Given the description of an element on the screen output the (x, y) to click on. 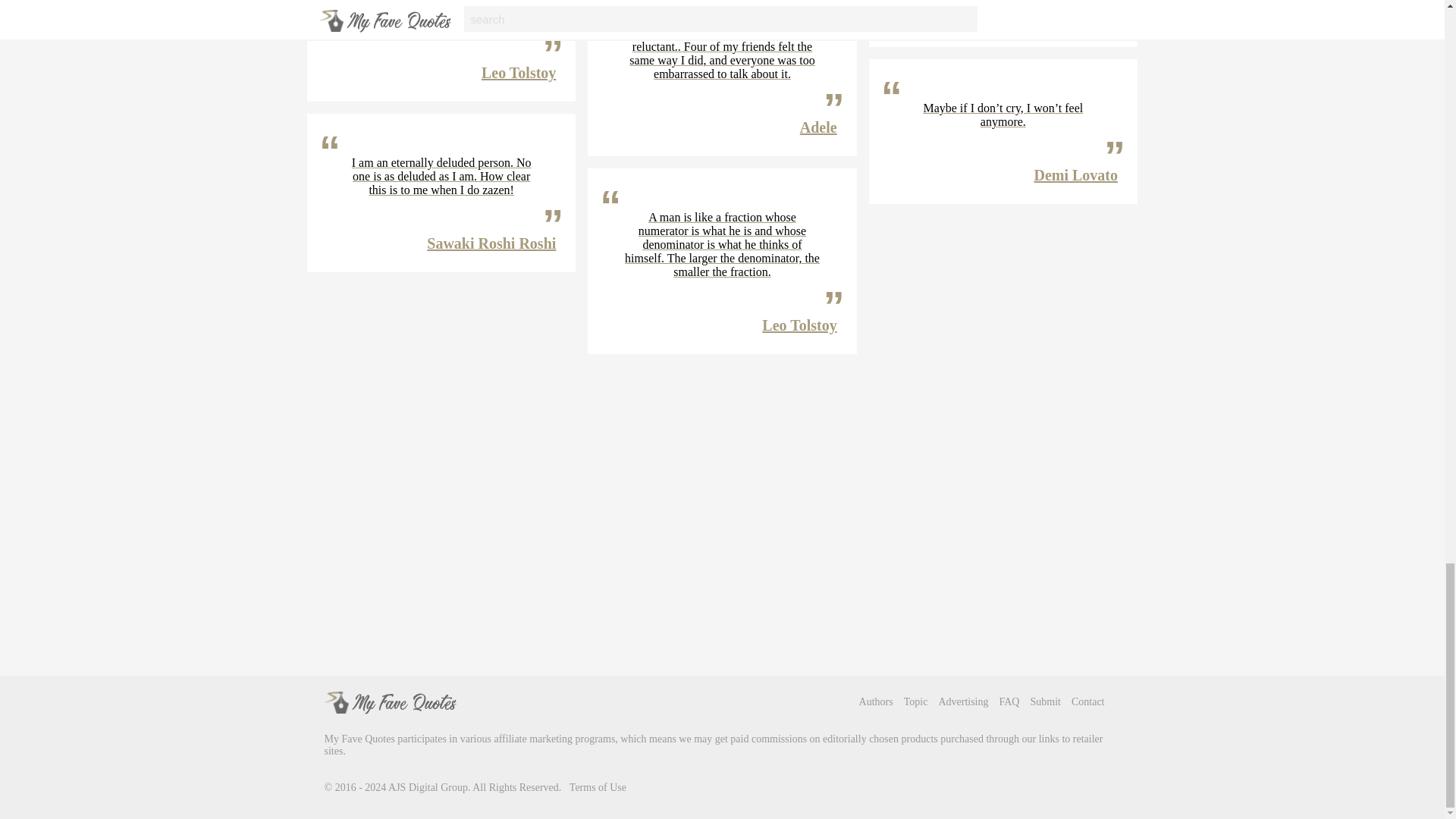
Leo Tolstoy (518, 72)
